Given the description of an element on the screen output the (x, y) to click on. 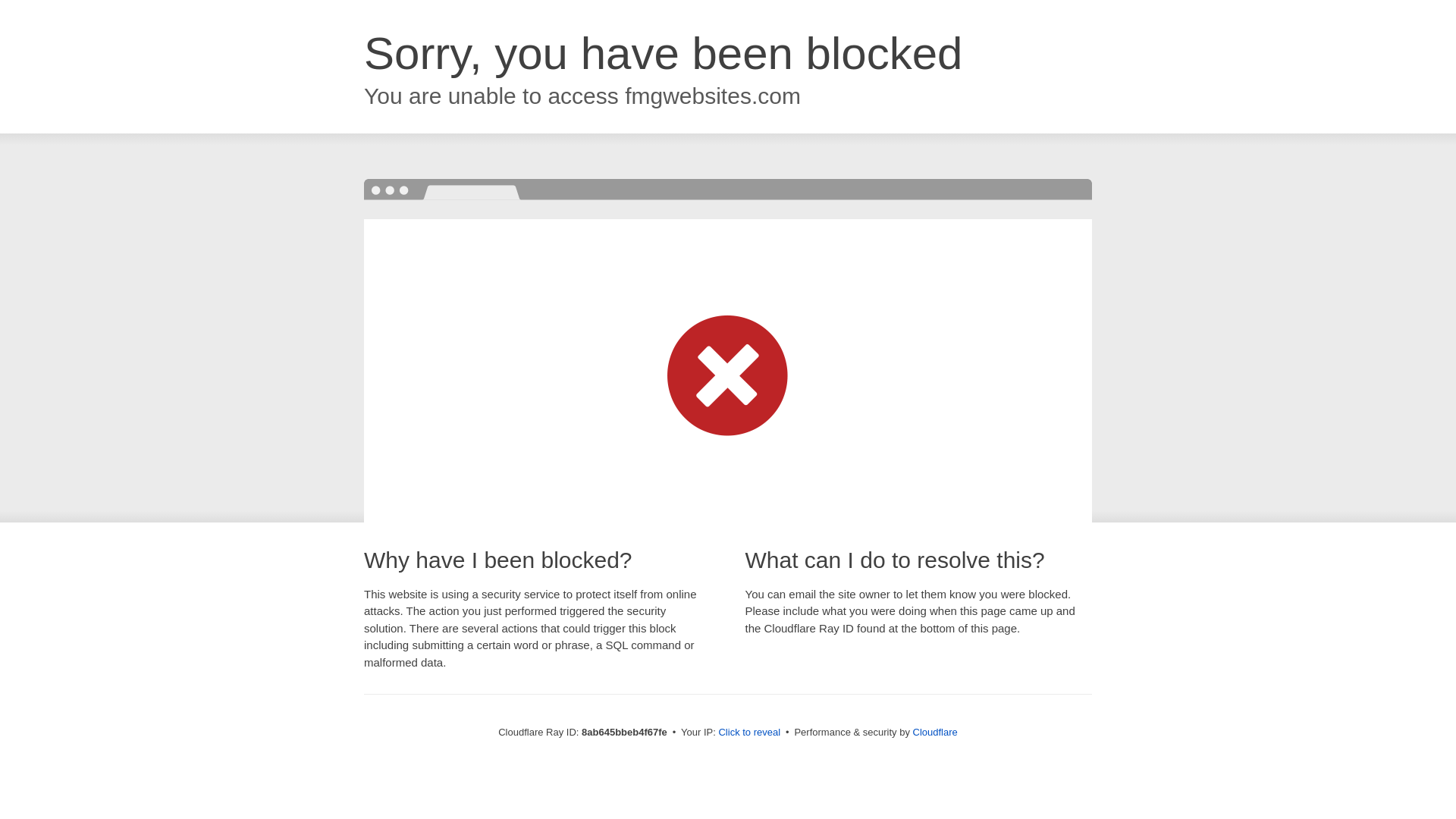
Click to reveal (748, 732)
Cloudflare (935, 731)
